Given the description of an element on the screen output the (x, y) to click on. 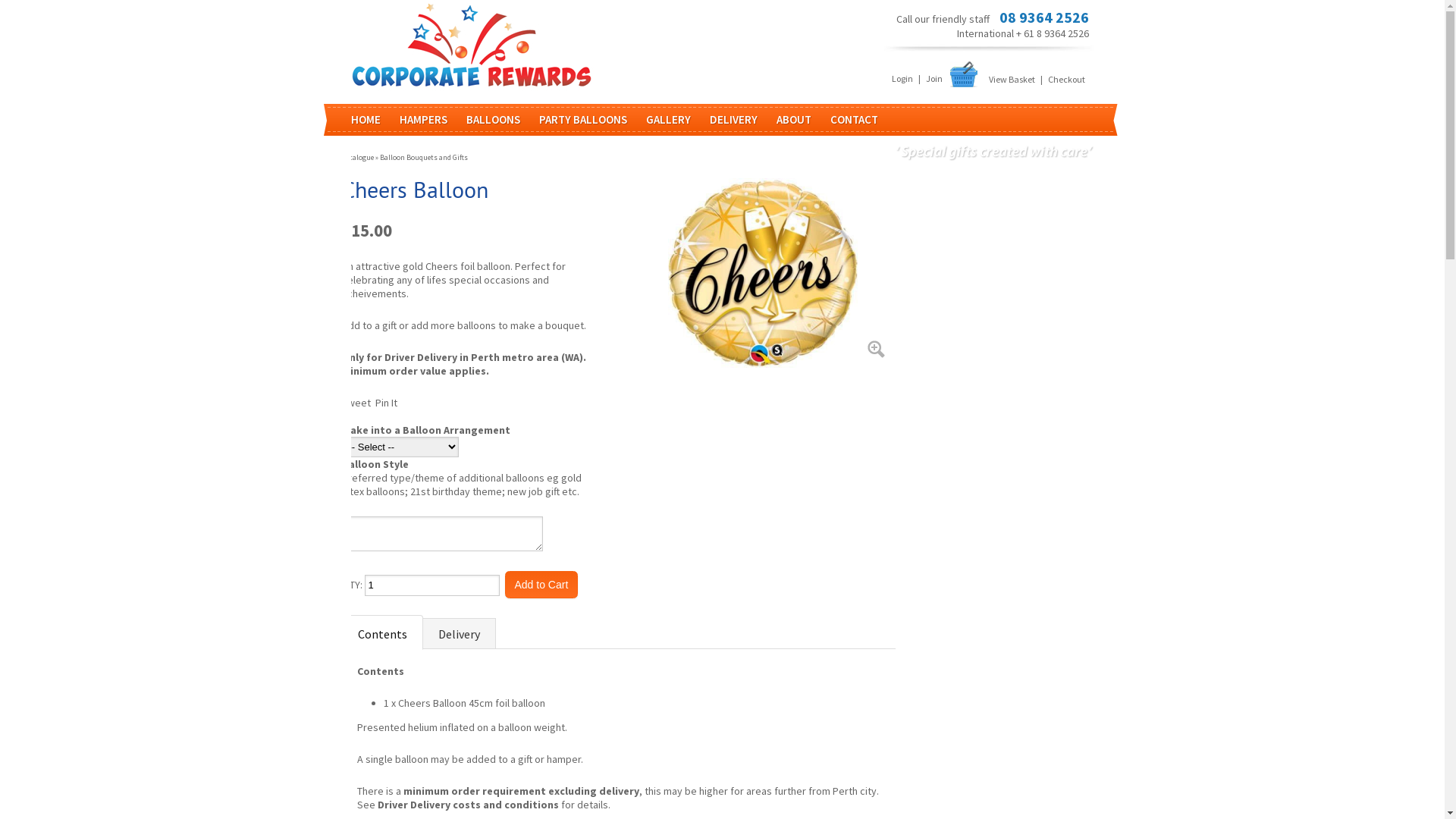
DELIVERY Element type: text (742, 119)
CONTACT Element type: text (862, 119)
Join Element type: text (933, 78)
Balloon Bouquets and Gifts Element type: text (423, 157)
Contents Element type: text (381, 632)
Checkout Element type: text (1066, 78)
Delivery Element type: text (458, 633)
ABOUT Element type: text (803, 119)
Pin It Element type: text (385, 402)
08 9364 2526 Element type: text (1043, 16)
Tweet Element type: text (355, 402)
View Basket Element type: text (1011, 78)
Login Element type: text (902, 78)
Add to Cart Element type: text (541, 584)
HAMPERS Element type: text (431, 119)
GALLERY Element type: text (677, 119)
HOME Element type: text (374, 119)
BALLOONS Element type: text (501, 119)
Catalogue Element type: text (357, 157)
Driver Delivery costs and conditions Element type: text (467, 804)
+ 61 8 9364 2526 Element type: text (1052, 33)
Cheers Balloon|Helium Balloons Perth | Cheers Balloons Element type: hover (761, 272)
PARTY BALLOONS Element type: text (591, 119)
